Given the description of an element on the screen output the (x, y) to click on. 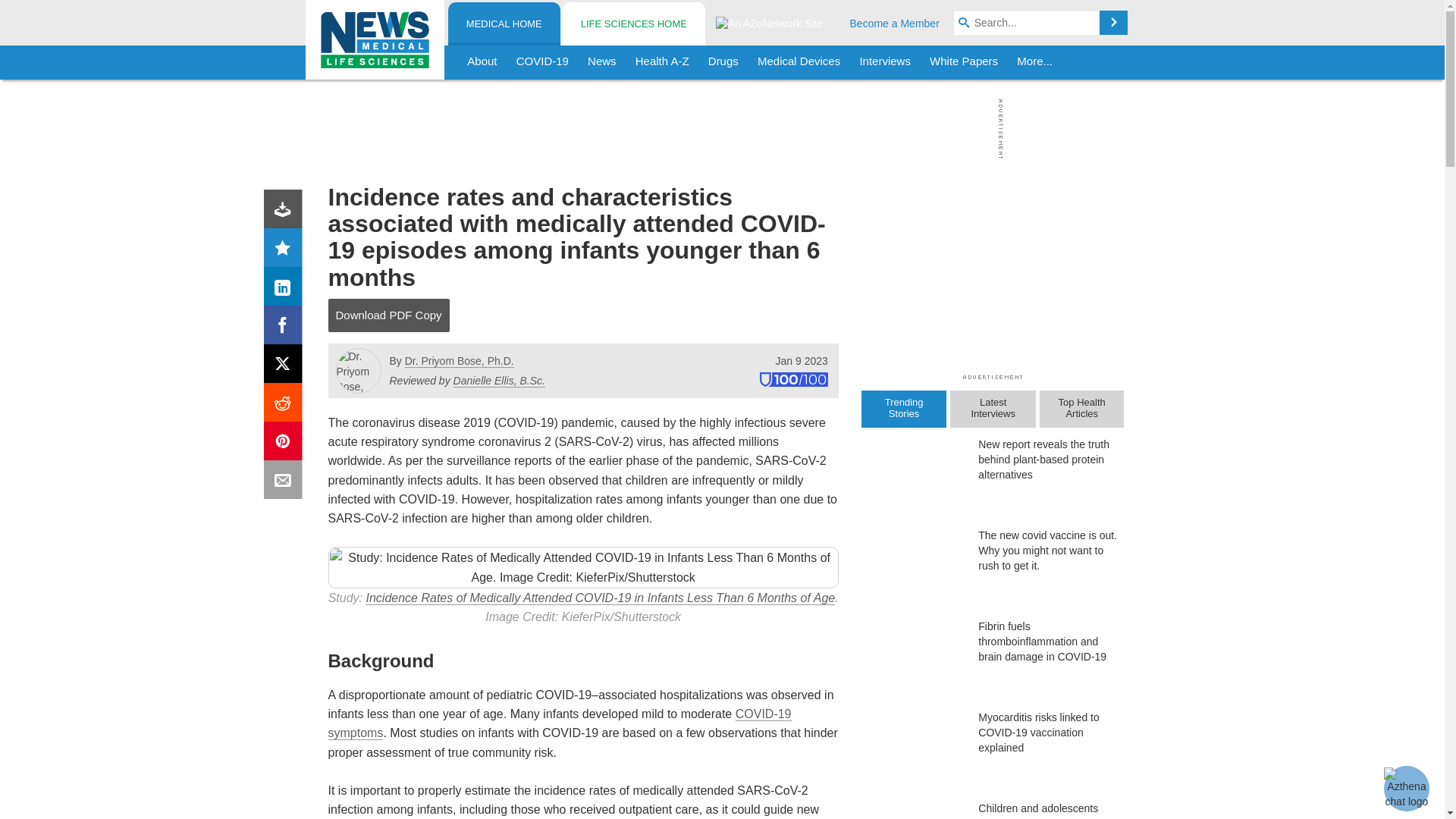
Health A-Z (662, 62)
X (285, 366)
LinkedIn (285, 289)
News (601, 62)
Interviews (884, 62)
Pinterest (285, 443)
About (482, 62)
More... (1035, 62)
Facebook (285, 328)
